Given the description of an element on the screen output the (x, y) to click on. 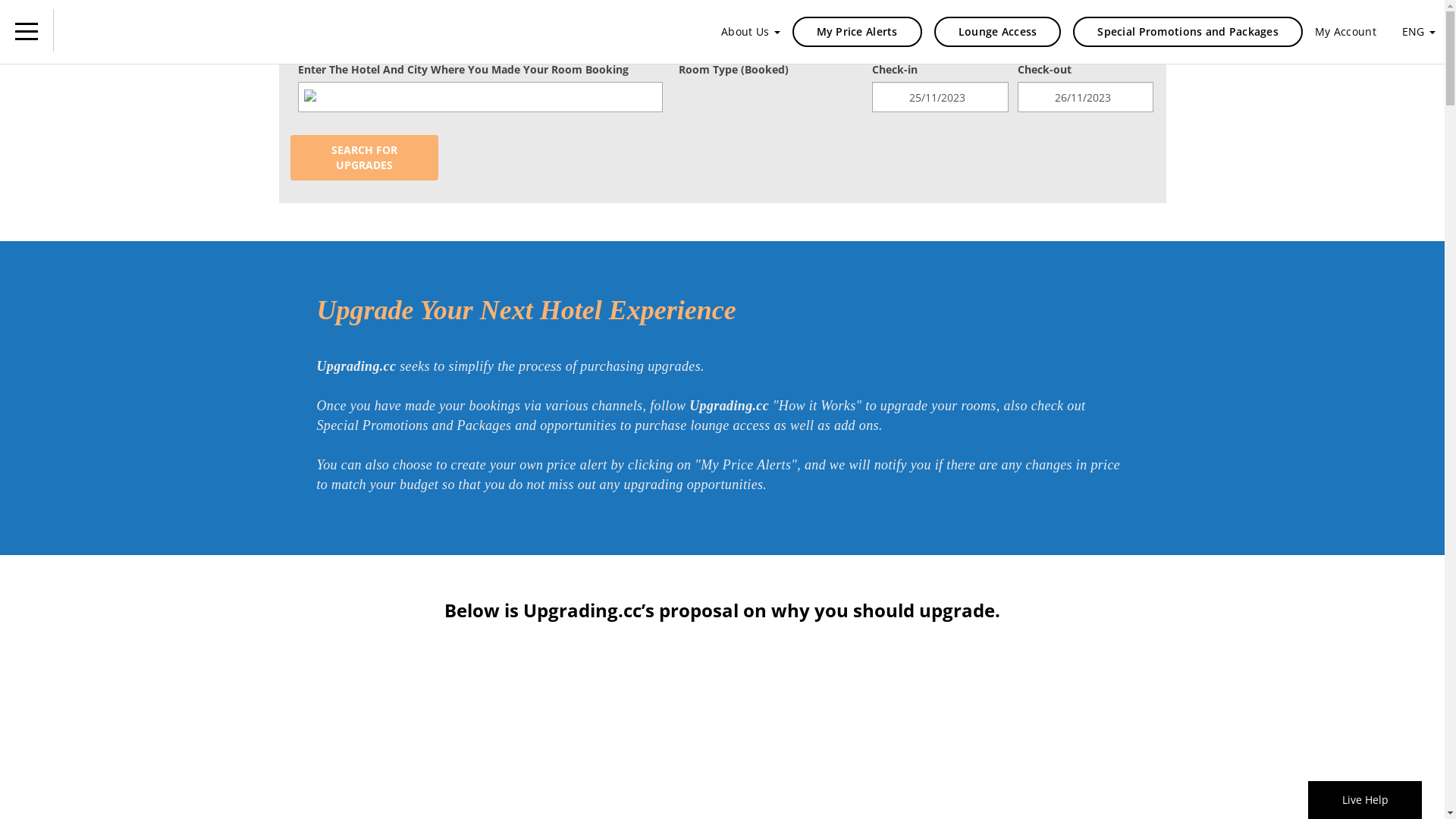
My Price Alerts Element type: text (856, 31)
CRUISES Element type: text (536, 28)
Submit Element type: text (188, 338)
FLIGHTS Element type: text (431, 28)
Special Promotions and Packages Element type: text (1187, 31)
HOTELS Element type: text (329, 28)
About Us Element type: text (750, 31)
CAR RENTALS Element type: text (654, 28)
TRAINS Element type: text (768, 28)
Lounge Access Element type: text (997, 31)
SEARCH FOR UPGRADES Element type: text (363, 157)
My Account Element type: text (1345, 31)
ENG Element type: text (1418, 31)
Live Help Element type: text (1365, 799)
